Given the description of an element on the screen output the (x, y) to click on. 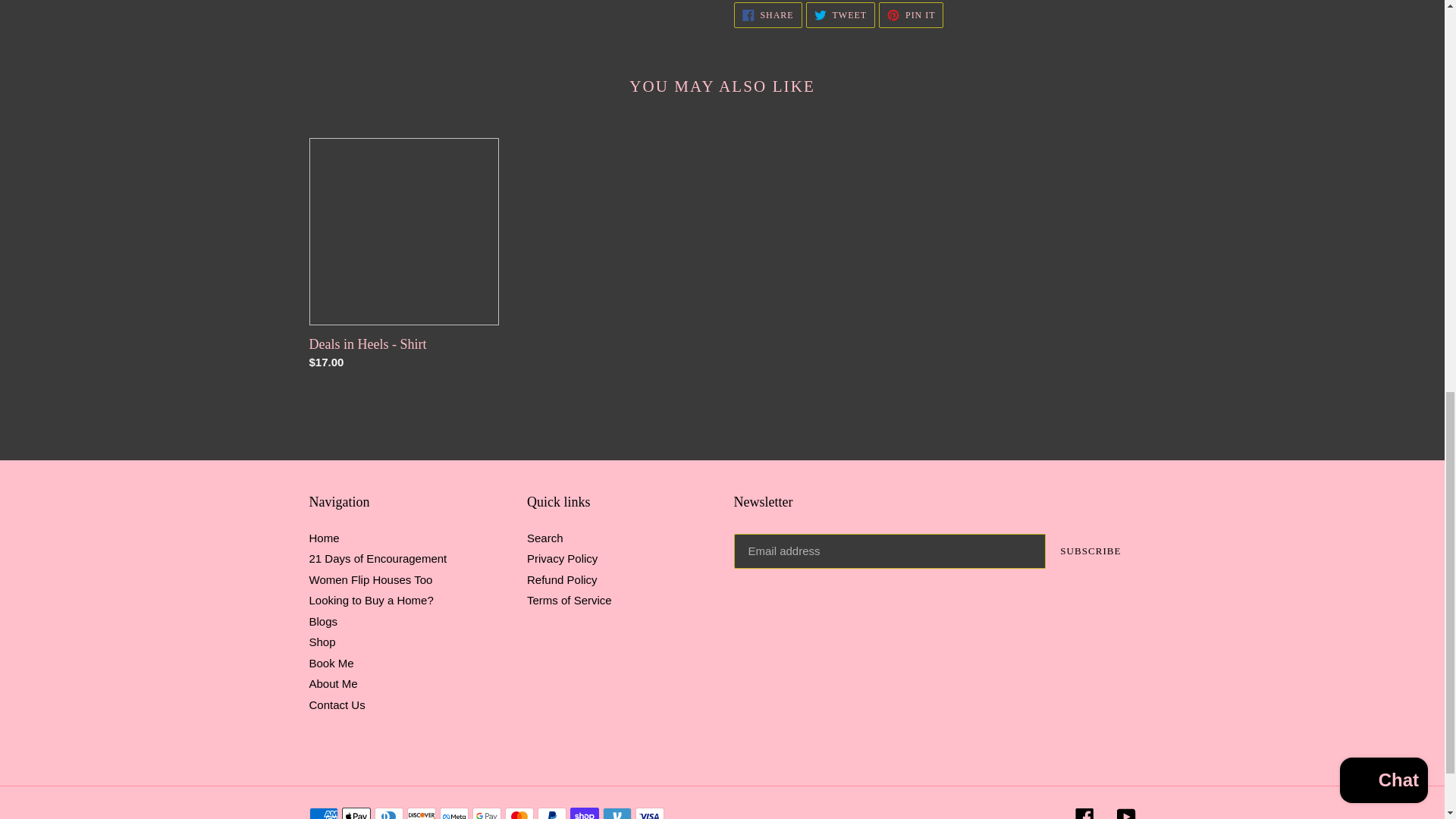
Shop (767, 14)
Blogs (322, 641)
Women Flip Houses Too (322, 621)
Looking to Buy a Home? (370, 579)
Home (840, 14)
21 Days of Encouragement (370, 599)
